Given the description of an element on the screen output the (x, y) to click on. 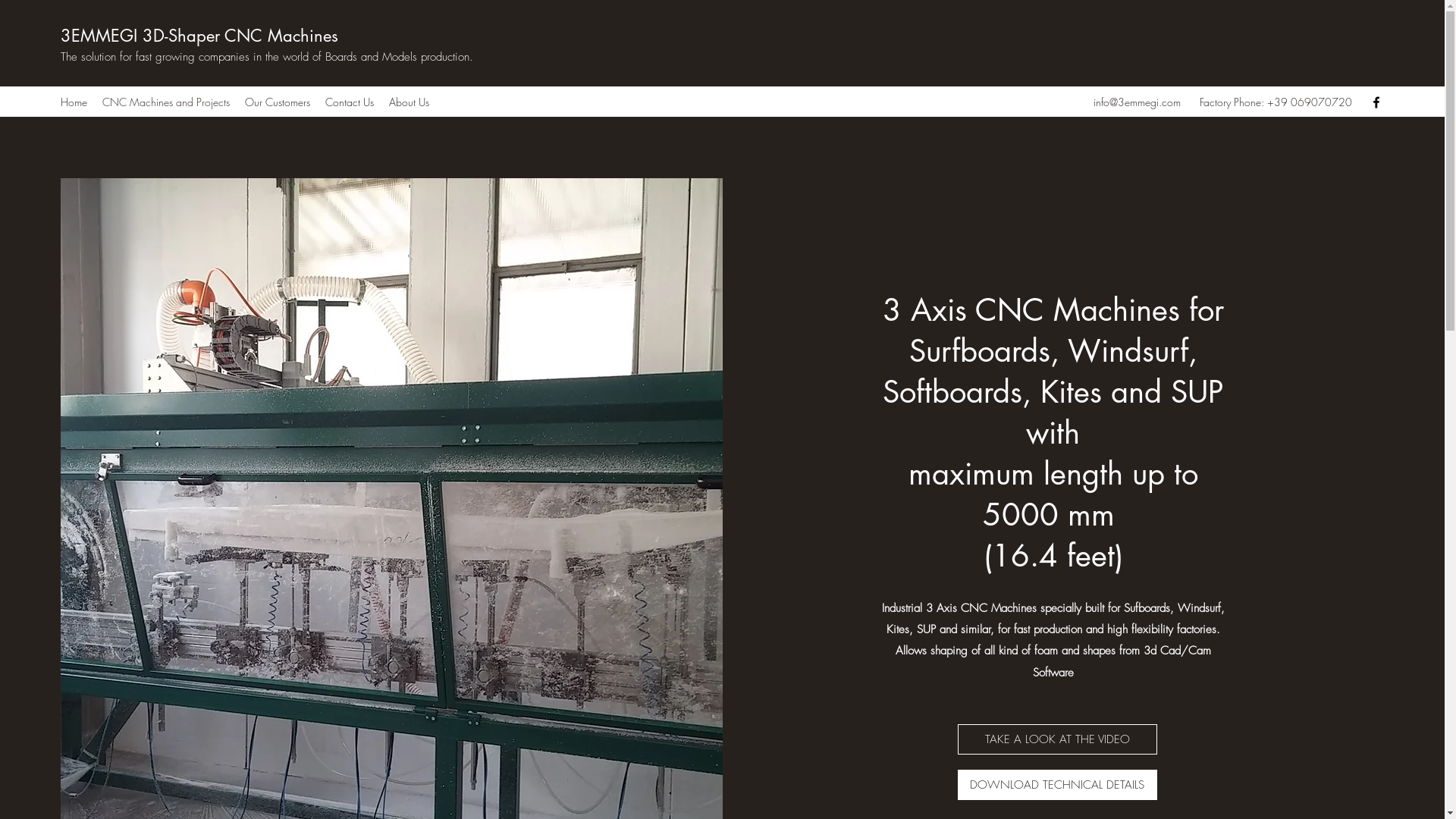
3EMMEGI 3D-Shaper CNC Machines  Element type: text (201, 35)
info@3emmegi.com Element type: text (1136, 101)
Contact Us Element type: text (349, 102)
CNC Machines and Projects Element type: text (165, 102)
DOWNLOAD TECHNICAL DETAILS Element type: text (1057, 784)
TAKE A LOOK AT THE VIDEO Element type: text (1057, 739)
Our Customers Element type: text (277, 102)
About Us Element type: text (408, 102)
Home Element type: text (73, 102)
